Given the description of an element on the screen output the (x, y) to click on. 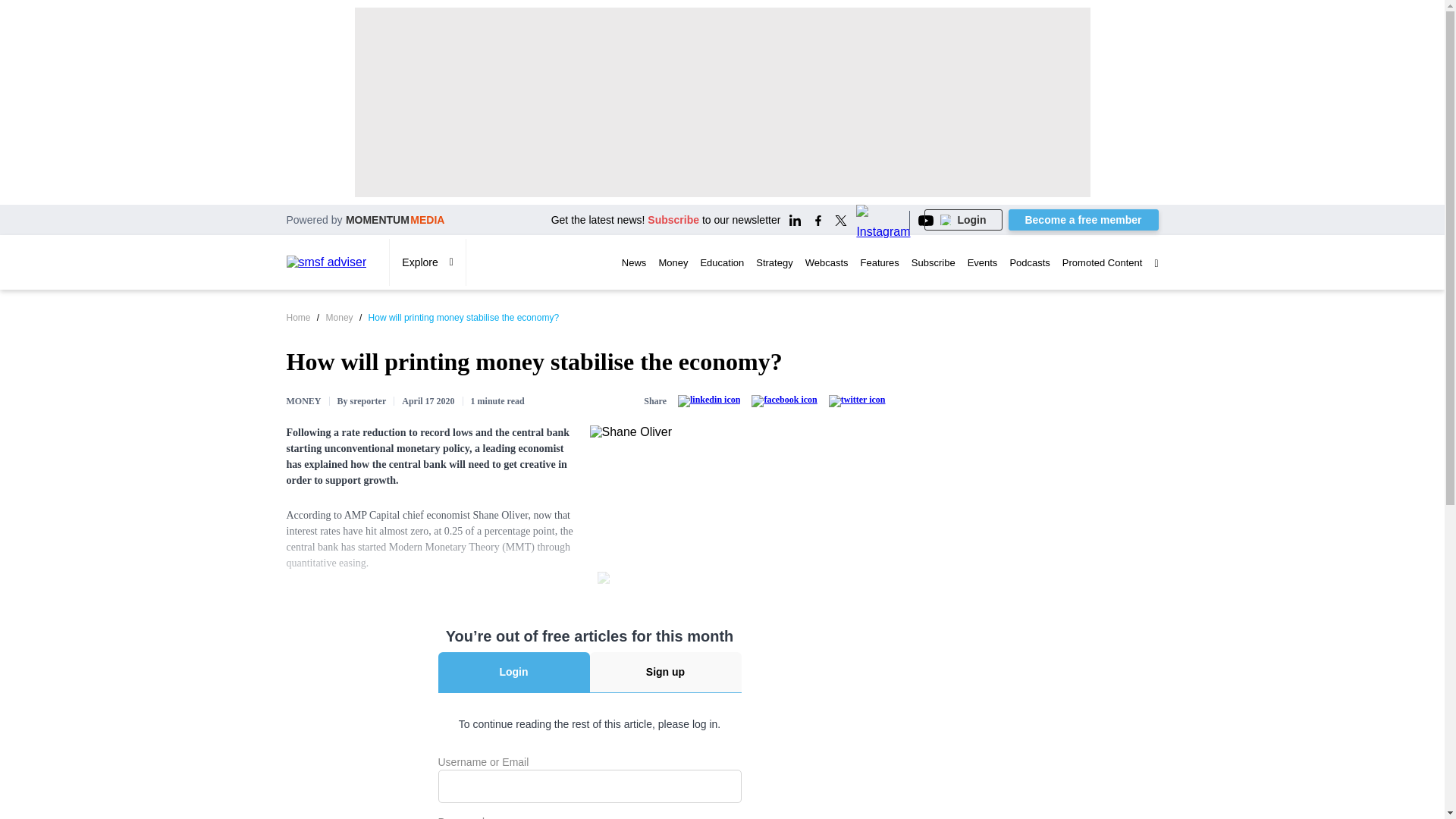
Zoom In (604, 579)
Become a free member (1083, 219)
MOMENTUM MEDIA (395, 219)
Subscribe (672, 219)
Login (962, 219)
